Given the description of an element on the screen output the (x, y) to click on. 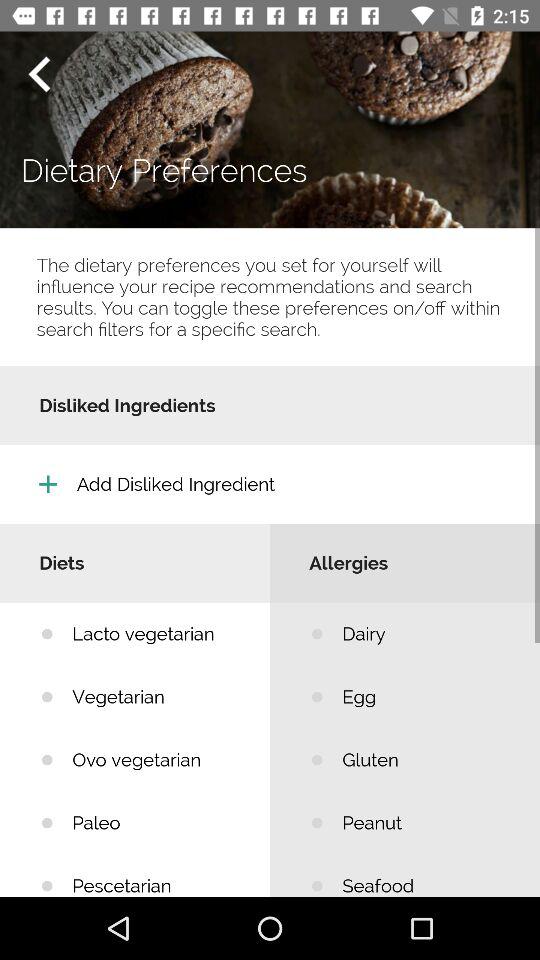
choose pescetarian (156, 875)
